Given the description of an element on the screen output the (x, y) to click on. 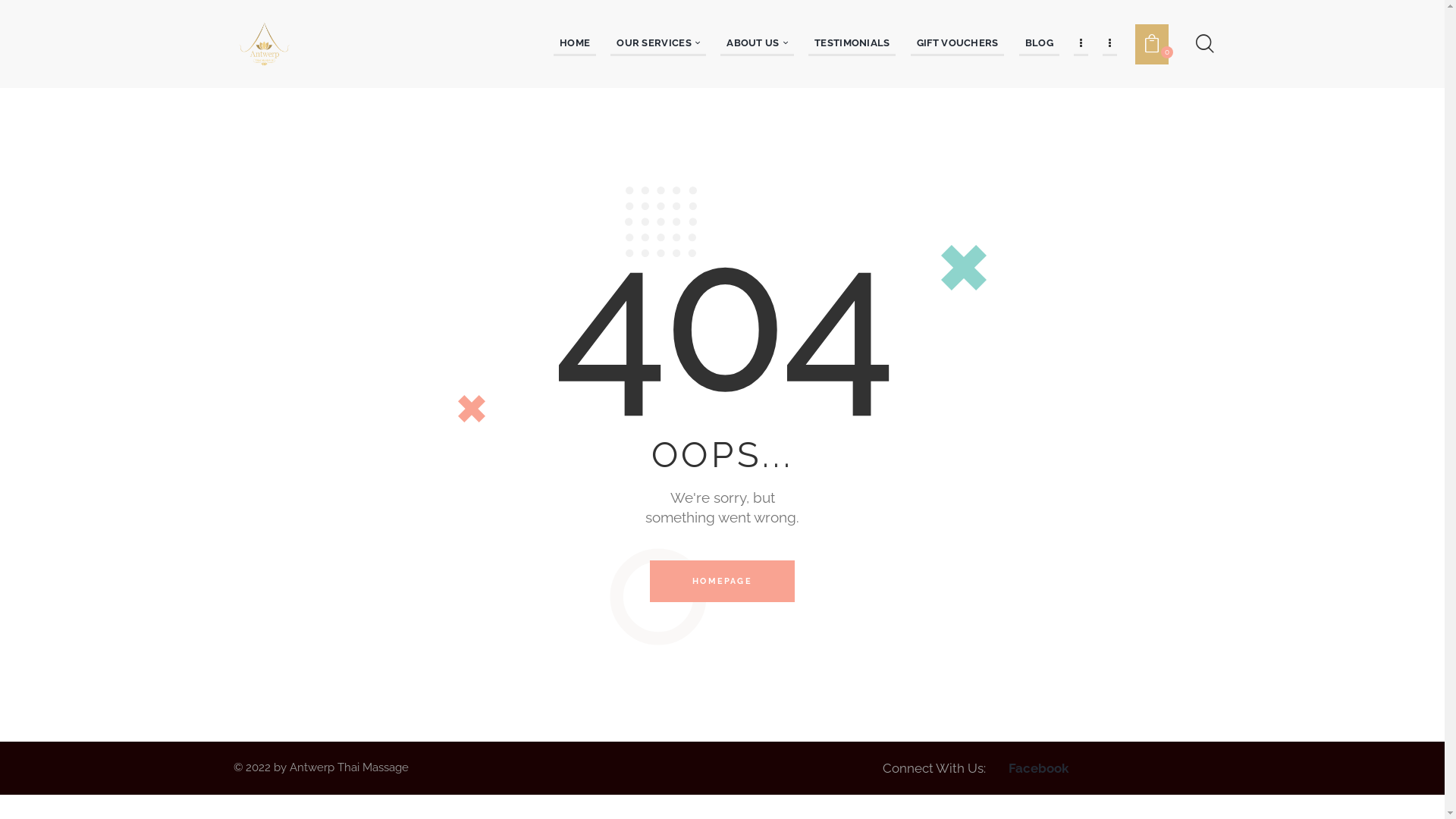
TESTIMONIALS Element type: text (851, 43)
HOMEPAGE Element type: text (721, 580)
ABOUT US Element type: text (756, 43)
BLOG Element type: text (1039, 43)
OUR SERVICES Element type: text (658, 43)
Facebook Element type: text (1038, 767)
HOME Element type: text (574, 43)
GIFT VOUCHERS Element type: text (957, 43)
